Given the description of an element on the screen output the (x, y) to click on. 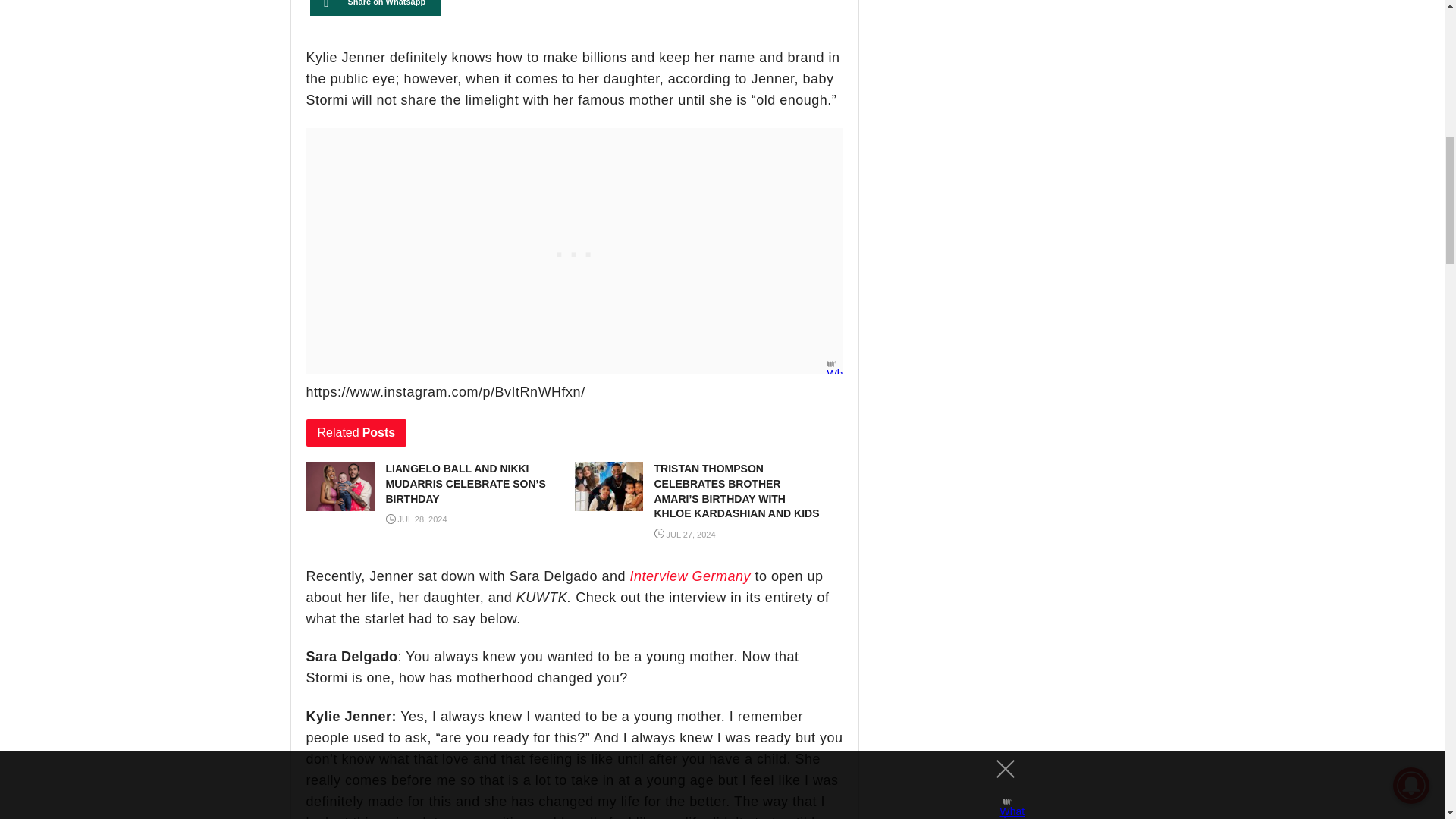
Share on Whatsapp (374, 7)
3rd party ad content (574, 250)
